Given the description of an element on the screen output the (x, y) to click on. 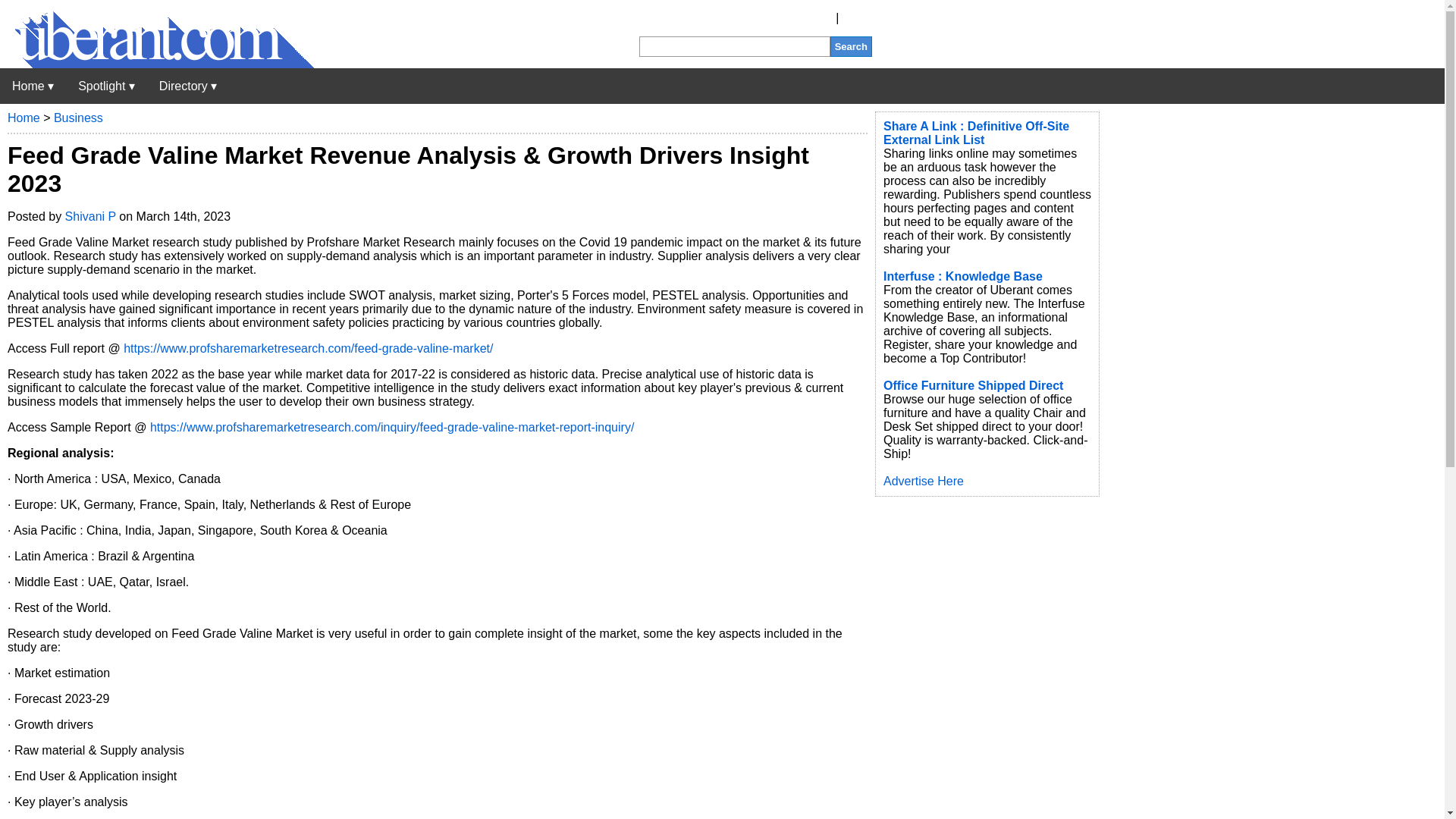
Search (850, 46)
Uberant (157, 63)
Search (850, 46)
Login (857, 17)
Uberant (32, 85)
Register (809, 17)
